Given the description of an element on the screen output the (x, y) to click on. 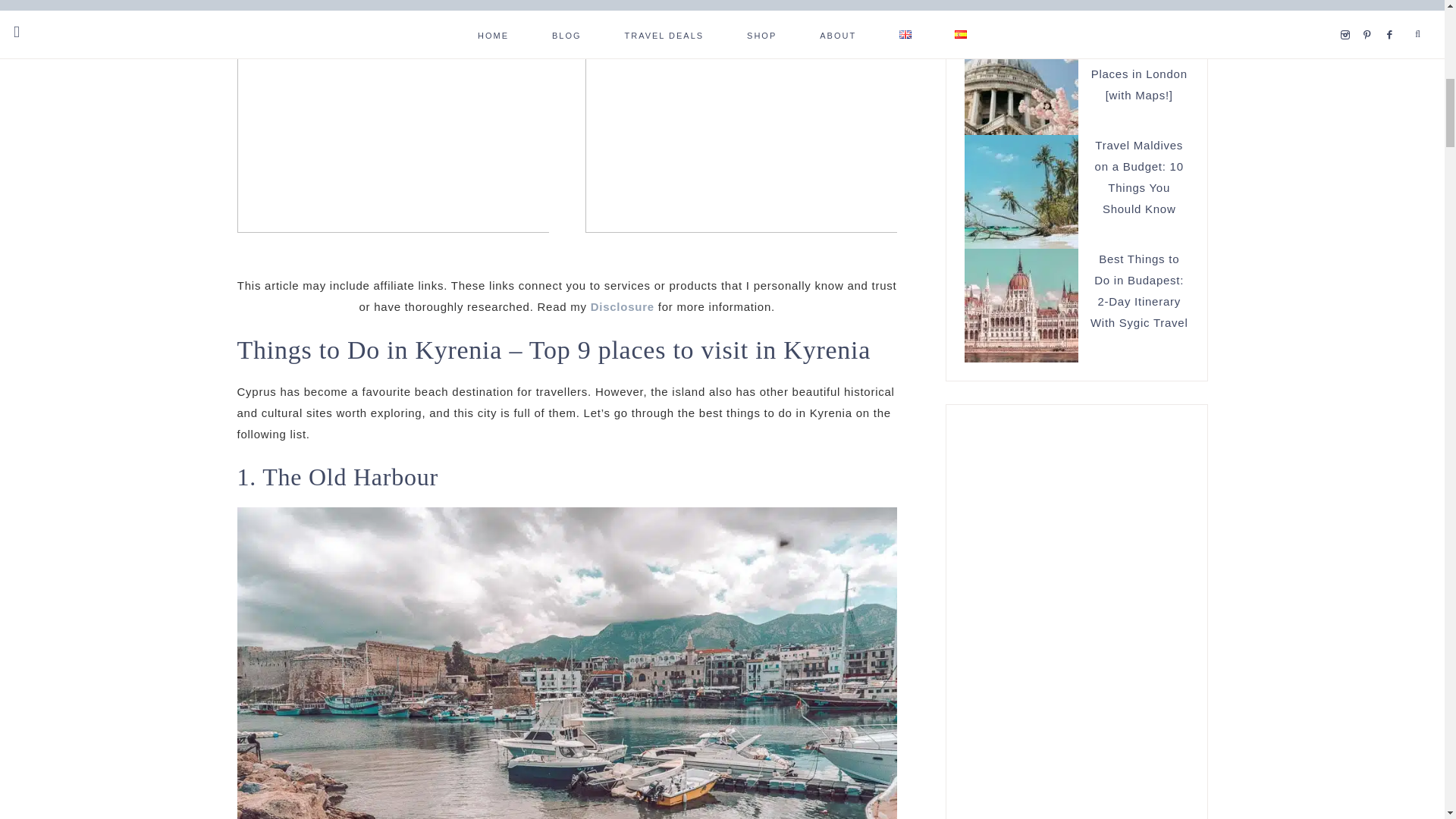
Disclosure (622, 306)
